Given the description of an element on the screen output the (x, y) to click on. 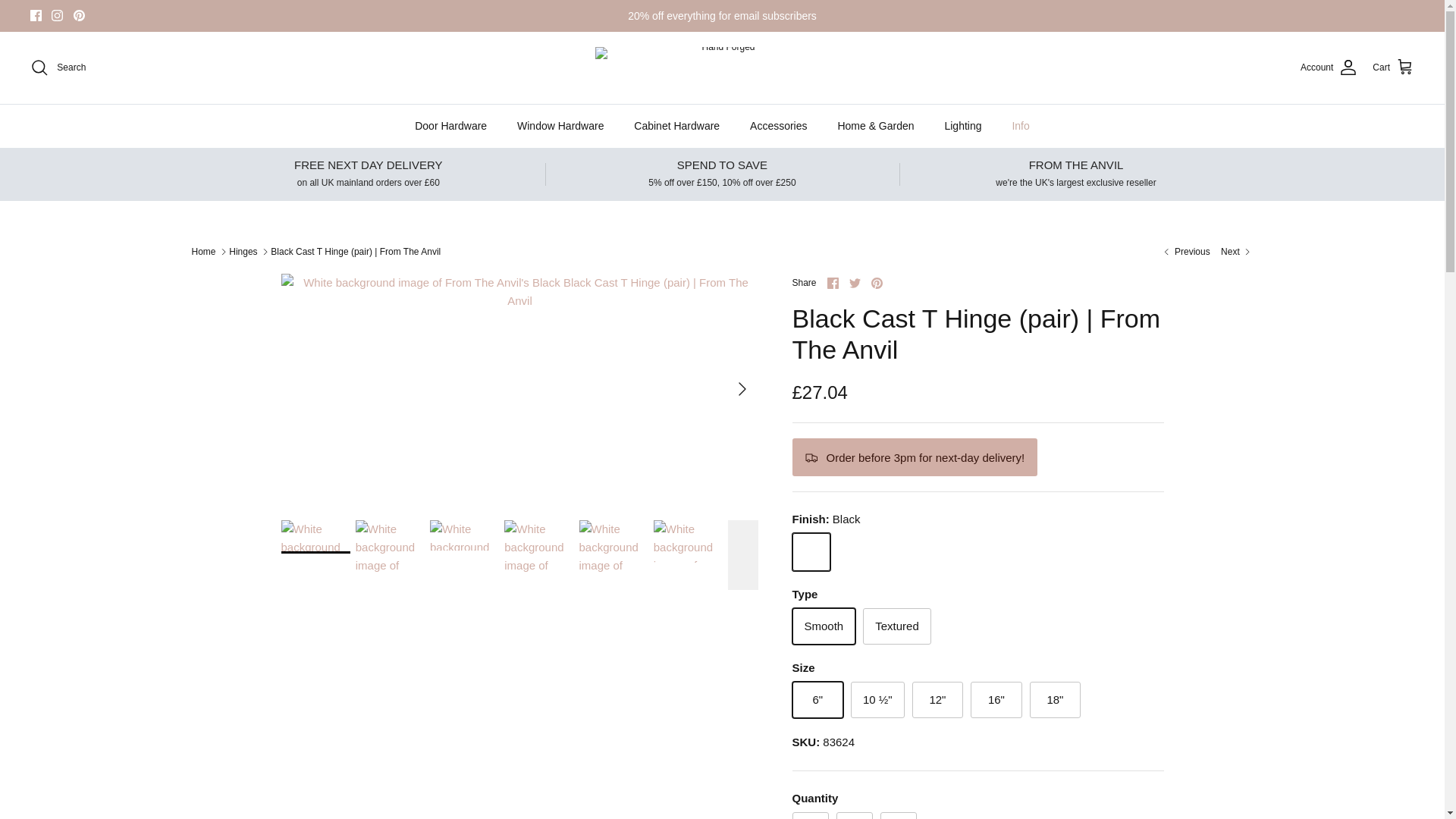
Facebook (36, 15)
Hand Forged (721, 67)
RIGHT (741, 388)
Door Hardware (450, 126)
Emails (721, 15)
Account (1328, 67)
Twitter (854, 283)
Instagram (56, 15)
Facebook (832, 283)
Cart (1393, 66)
Pinterest (79, 15)
Window Hardware (560, 126)
1 (853, 815)
Pinterest (79, 15)
Search (57, 67)
